Given the description of an element on the screen output the (x, y) to click on. 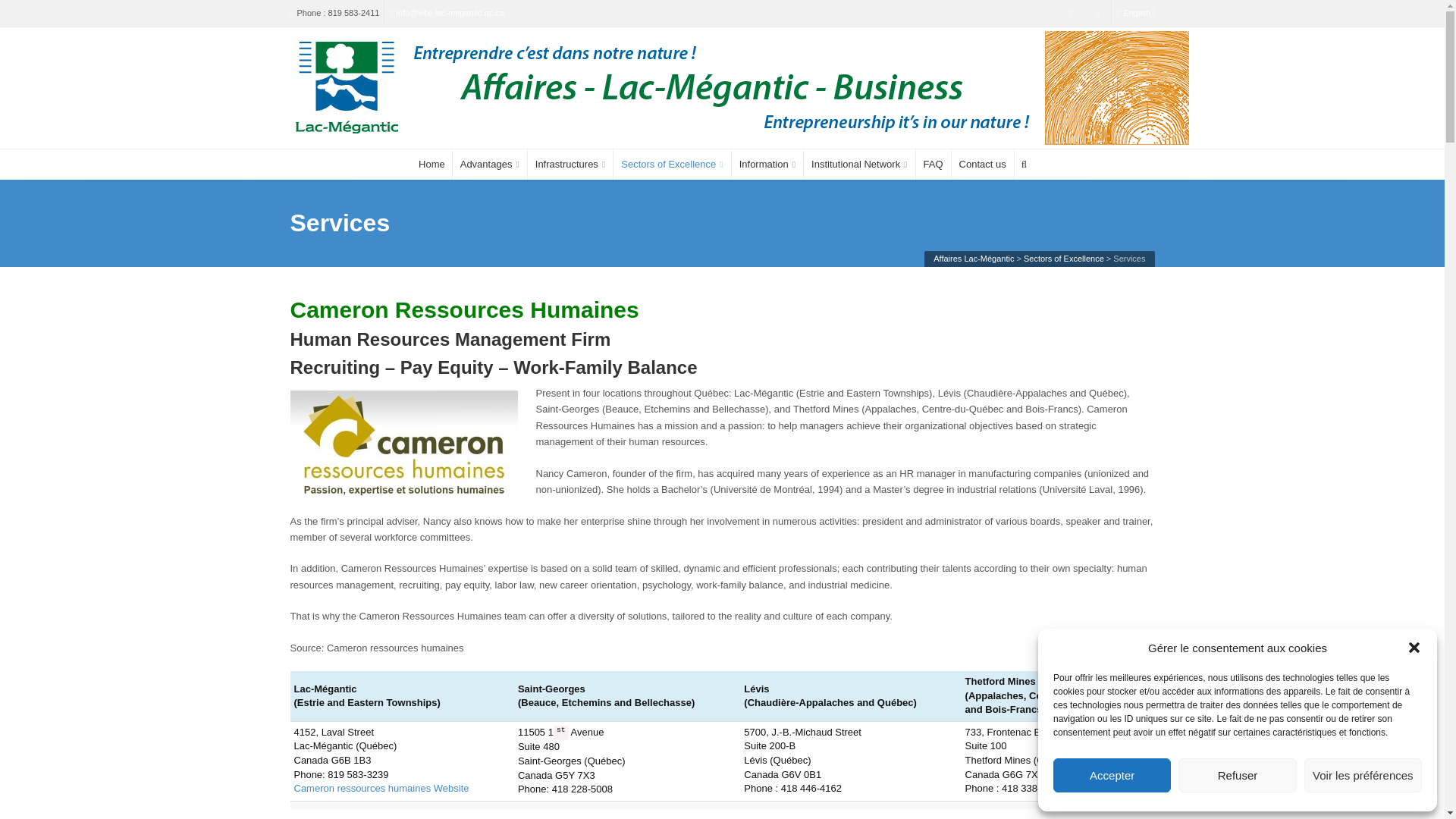
Sectors of Excellence (671, 164)
Accepter (1111, 775)
Refuser (1236, 775)
Home (431, 164)
English (1135, 13)
Go to Sectors of Excellence. (1063, 257)
Infrastructures (569, 164)
Information (767, 164)
Advantages (489, 164)
